Given the description of an element on the screen output the (x, y) to click on. 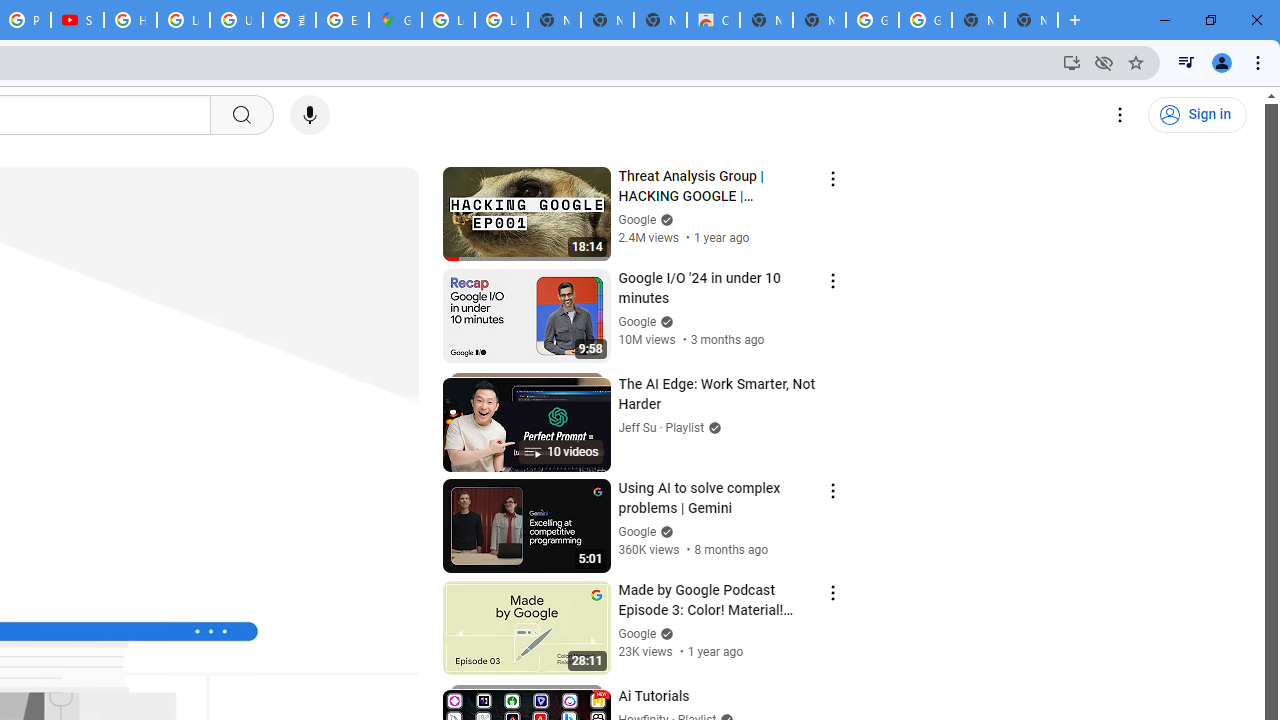
Subscriptions - YouTube (77, 20)
New Tab (1031, 20)
